Given the description of an element on the screen output the (x, y) to click on. 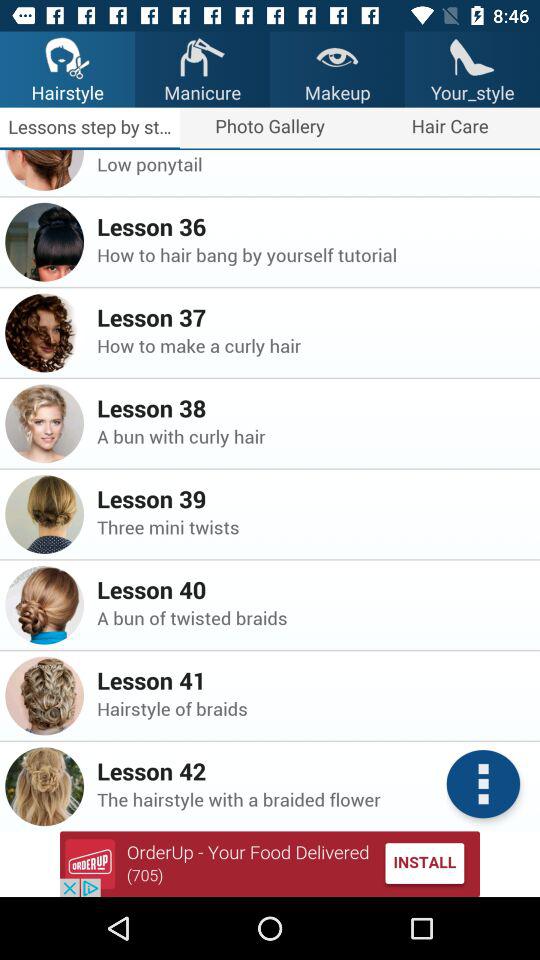
tap the lesson 40 item (311, 589)
